Given the description of an element on the screen output the (x, y) to click on. 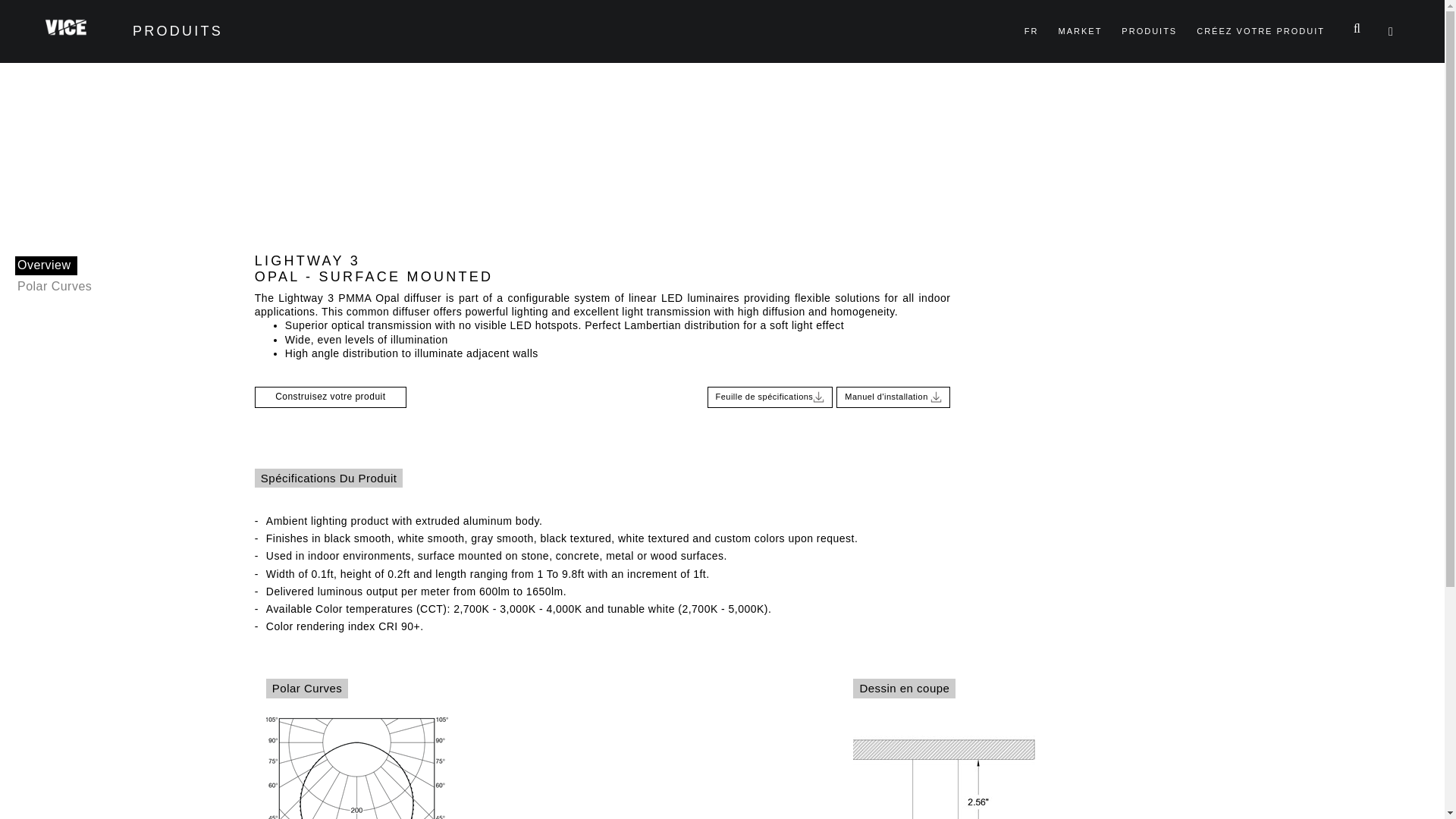
MARKET (1080, 30)
Manuel d'installation (892, 396)
Construisez votre produit (330, 396)
Polar Curves (55, 286)
PRODUITS (1149, 28)
Overview (45, 265)
